Given the description of an element on the screen output the (x, y) to click on. 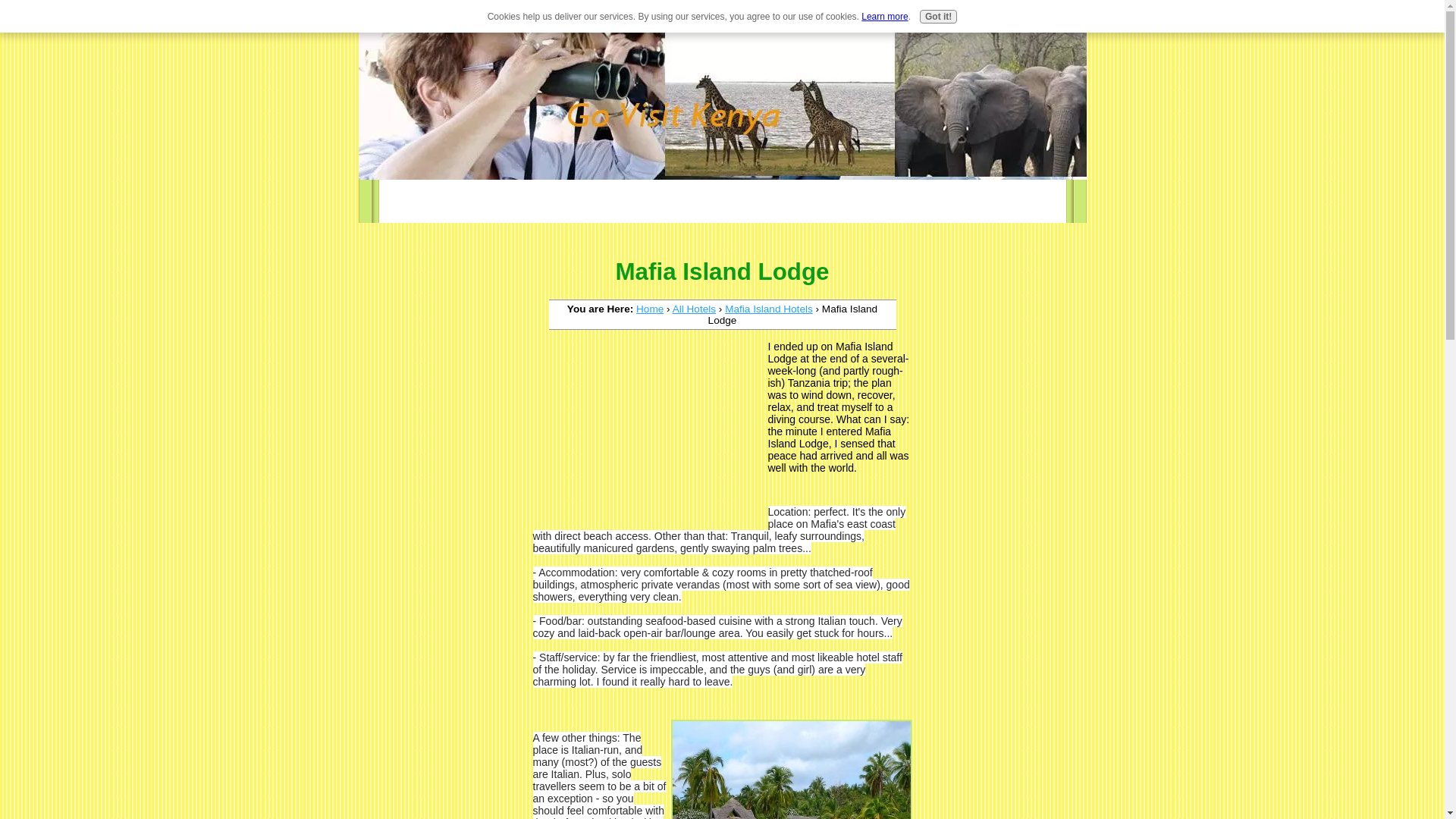
Learn more (884, 16)
Got it! (938, 16)
Advertisement (646, 433)
All Hotels (694, 308)
Home (649, 308)
Mafia Island Hotels (768, 308)
